Given the description of an element on the screen output the (x, y) to click on. 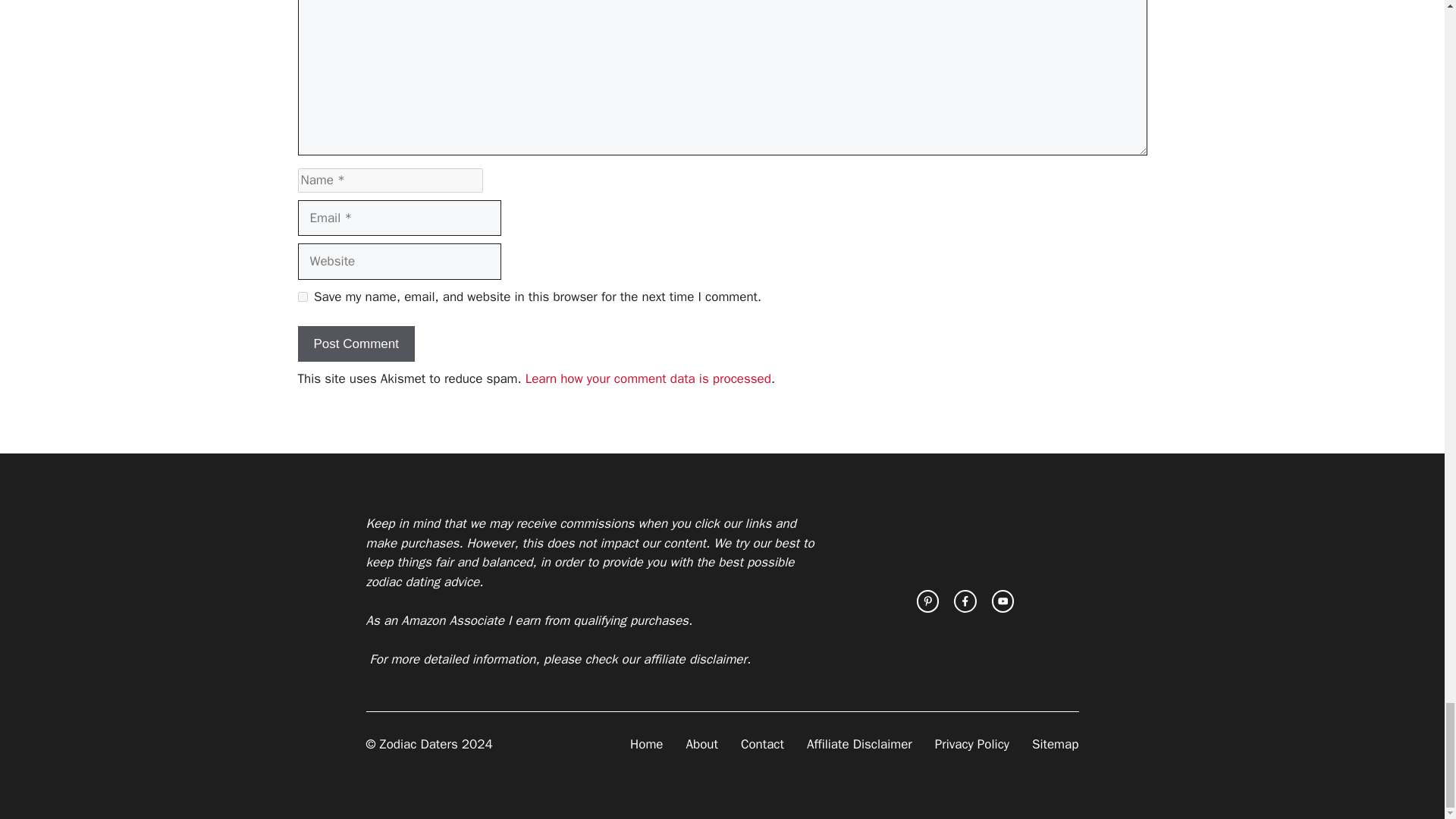
Learn how your comment data is processed (648, 378)
affiliate disclaimer (694, 659)
yes (302, 296)
Post Comment (355, 343)
Post Comment (355, 343)
